Given the description of an element on the screen output the (x, y) to click on. 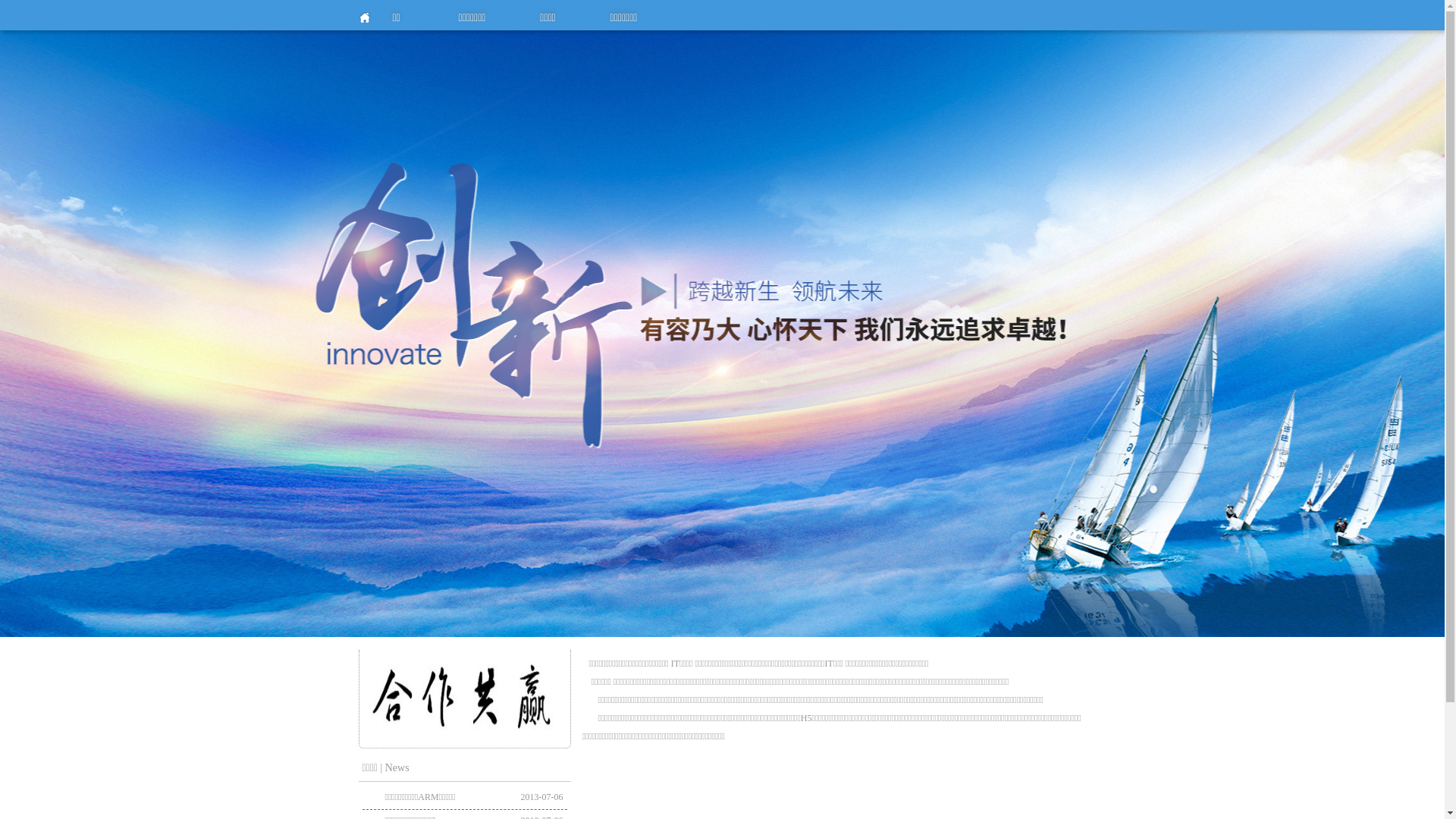
2013-07-06 Element type: text (541, 797)
